Given the description of an element on the screen output the (x, y) to click on. 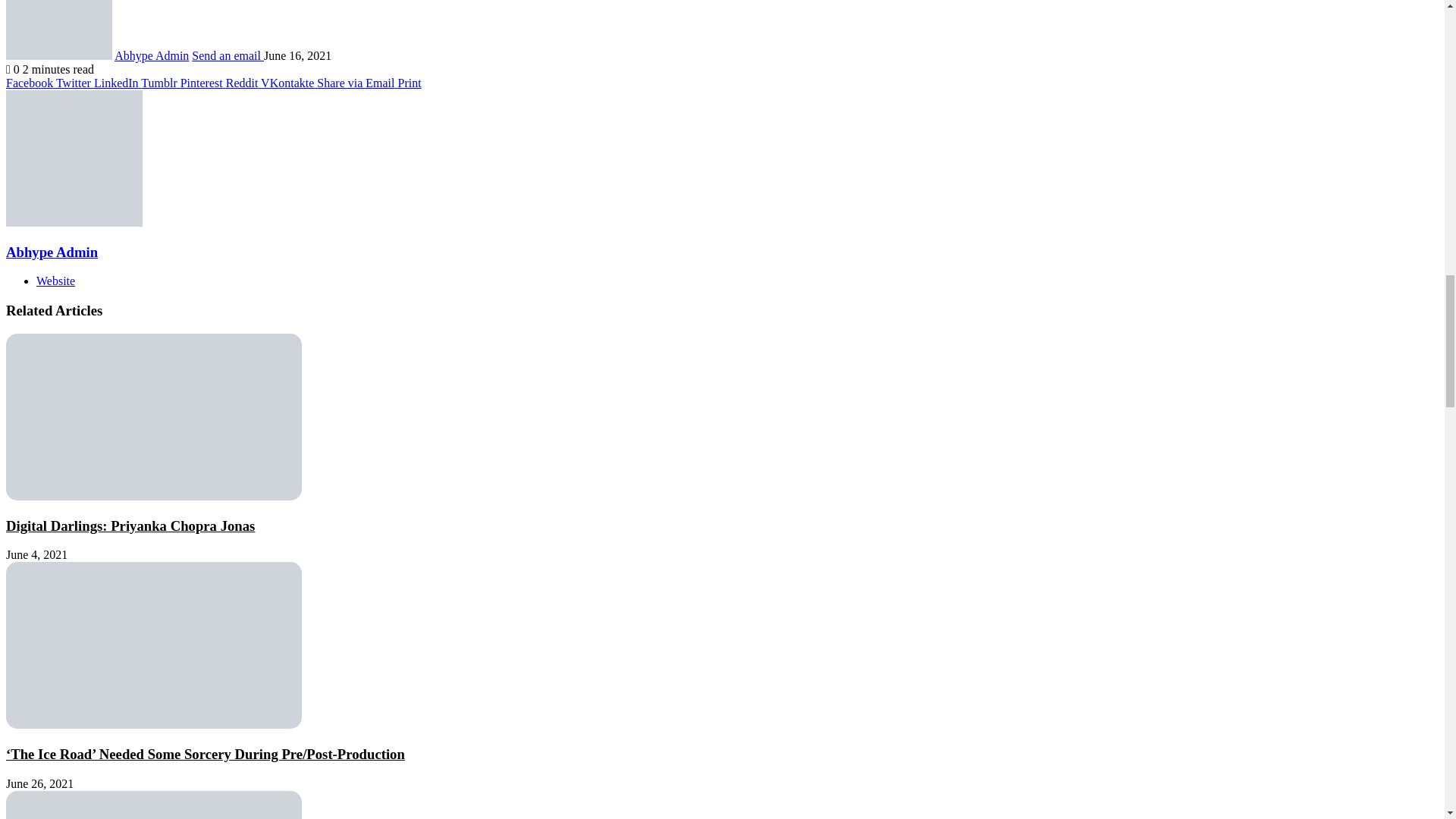
LinkedIn (117, 82)
Print (408, 82)
Digital Darlings: Priyanka Chopra Jonas (129, 525)
Pinterest (202, 82)
Share via Email (357, 82)
Twitter (75, 82)
Twitter (75, 82)
Tumblr (160, 82)
VKontakte (288, 82)
Tumblr (160, 82)
Share via Email (357, 82)
Facebook (30, 82)
Reddit (242, 82)
Reddit (242, 82)
Abhype Admin (152, 55)
